Given the description of an element on the screen output the (x, y) to click on. 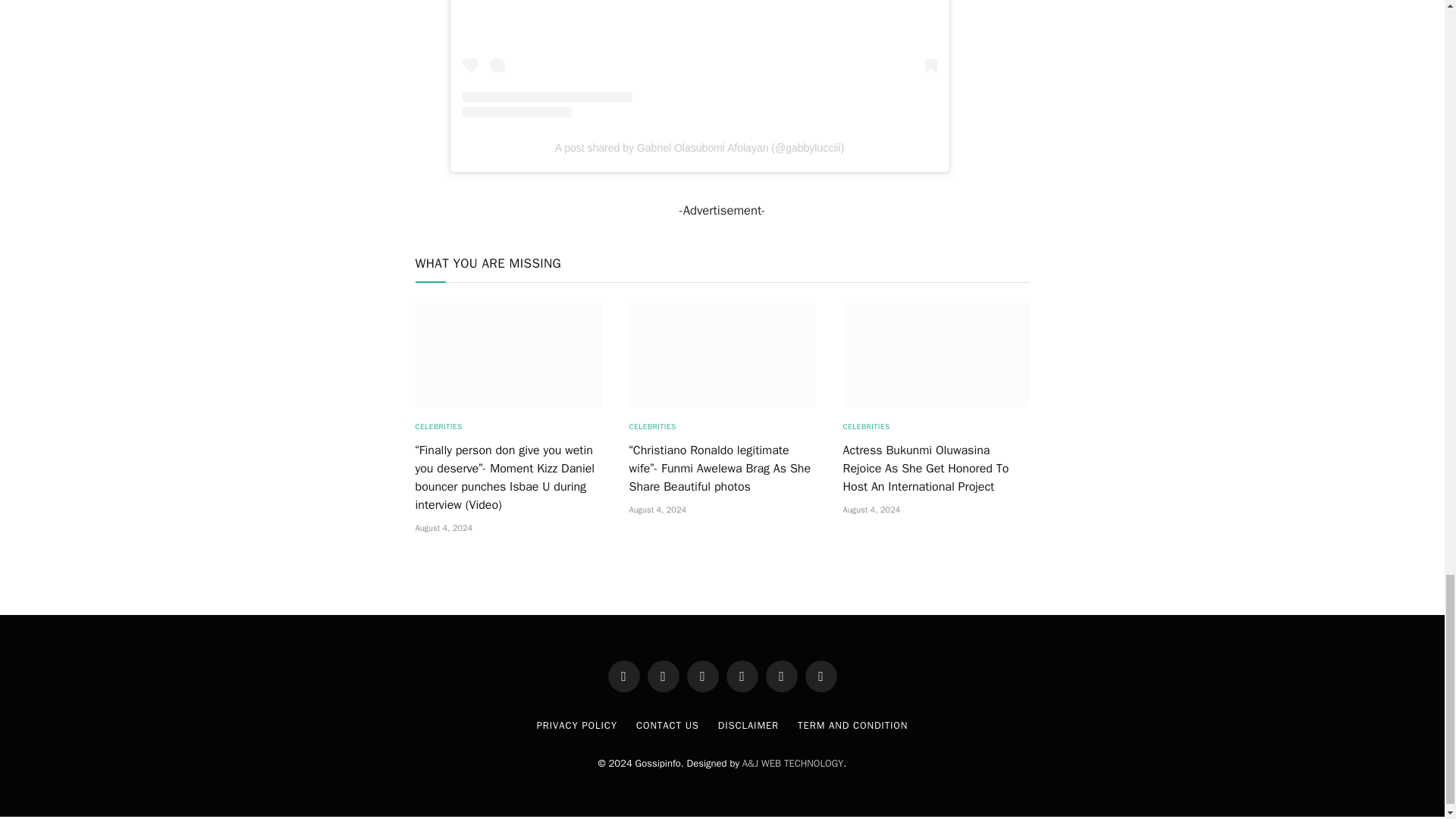
View this post on Instagram (700, 58)
